Given the description of an element on the screen output the (x, y) to click on. 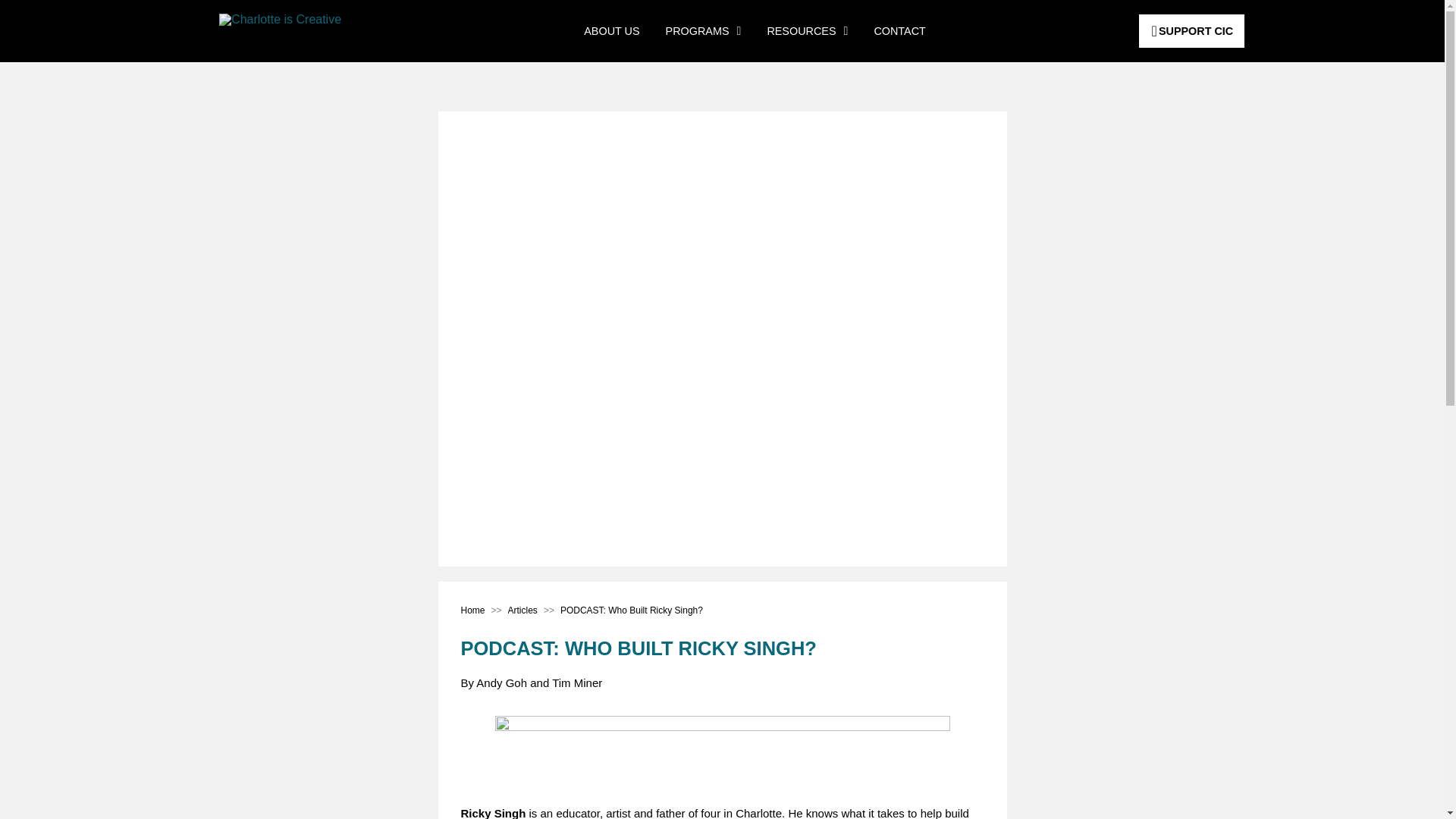
SUPPORT CIC (1191, 30)
ABOUT US (611, 30)
Home (472, 611)
PROGRAMS (703, 30)
PODCAST: Who Built Ricky Singh? (631, 611)
CONTACT (898, 30)
You Are Here (631, 611)
Articles (522, 611)
RESOURCES (807, 30)
